Given the description of an element on the screen output the (x, y) to click on. 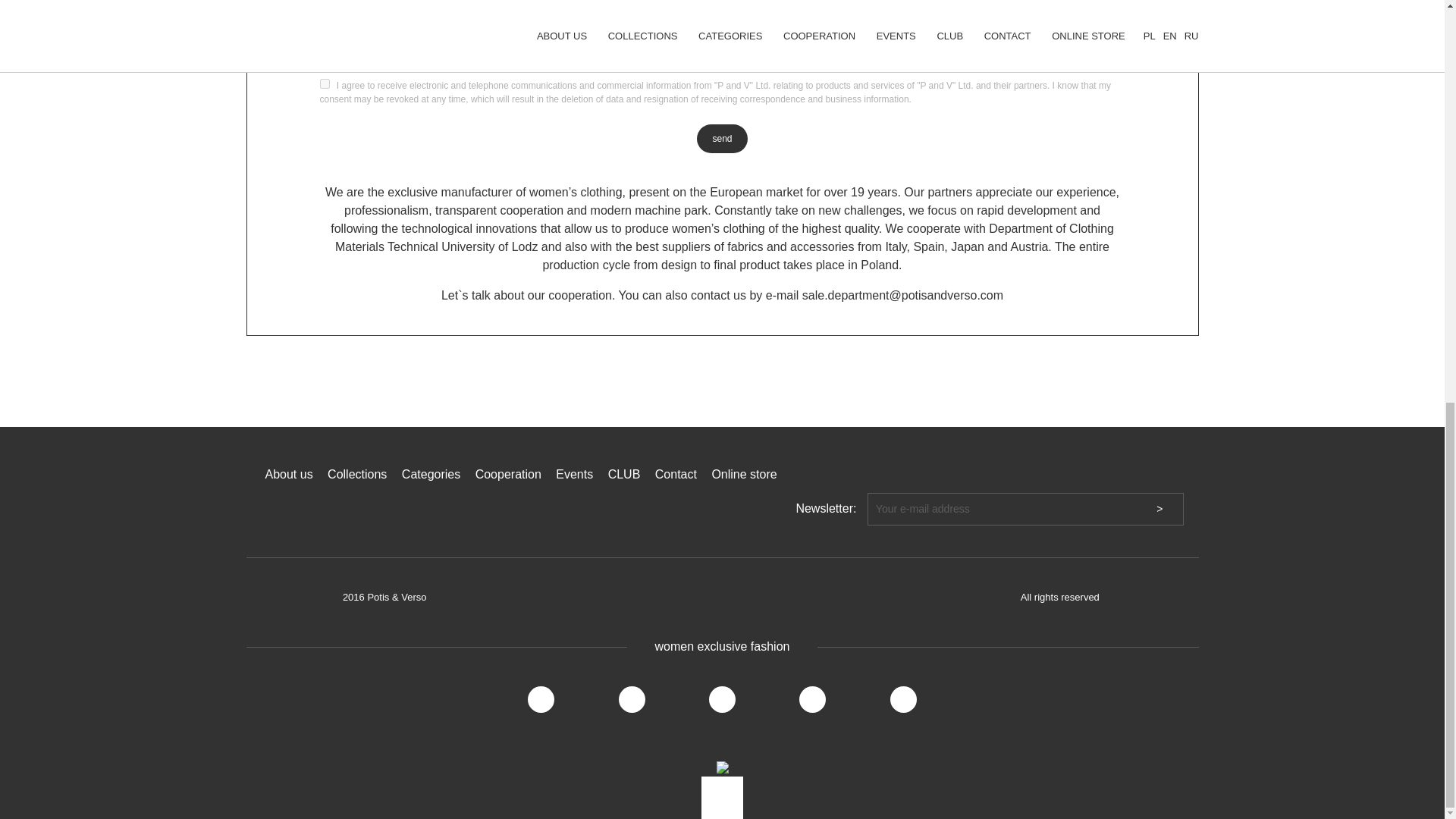
Scroll (721, 796)
About us (288, 473)
Collections (357, 473)
Contact (676, 473)
CLUB (624, 473)
Categories (430, 473)
on (325, 82)
send (721, 137)
Cooperation (508, 473)
Online store (743, 473)
